Given the description of an element on the screen output the (x, y) to click on. 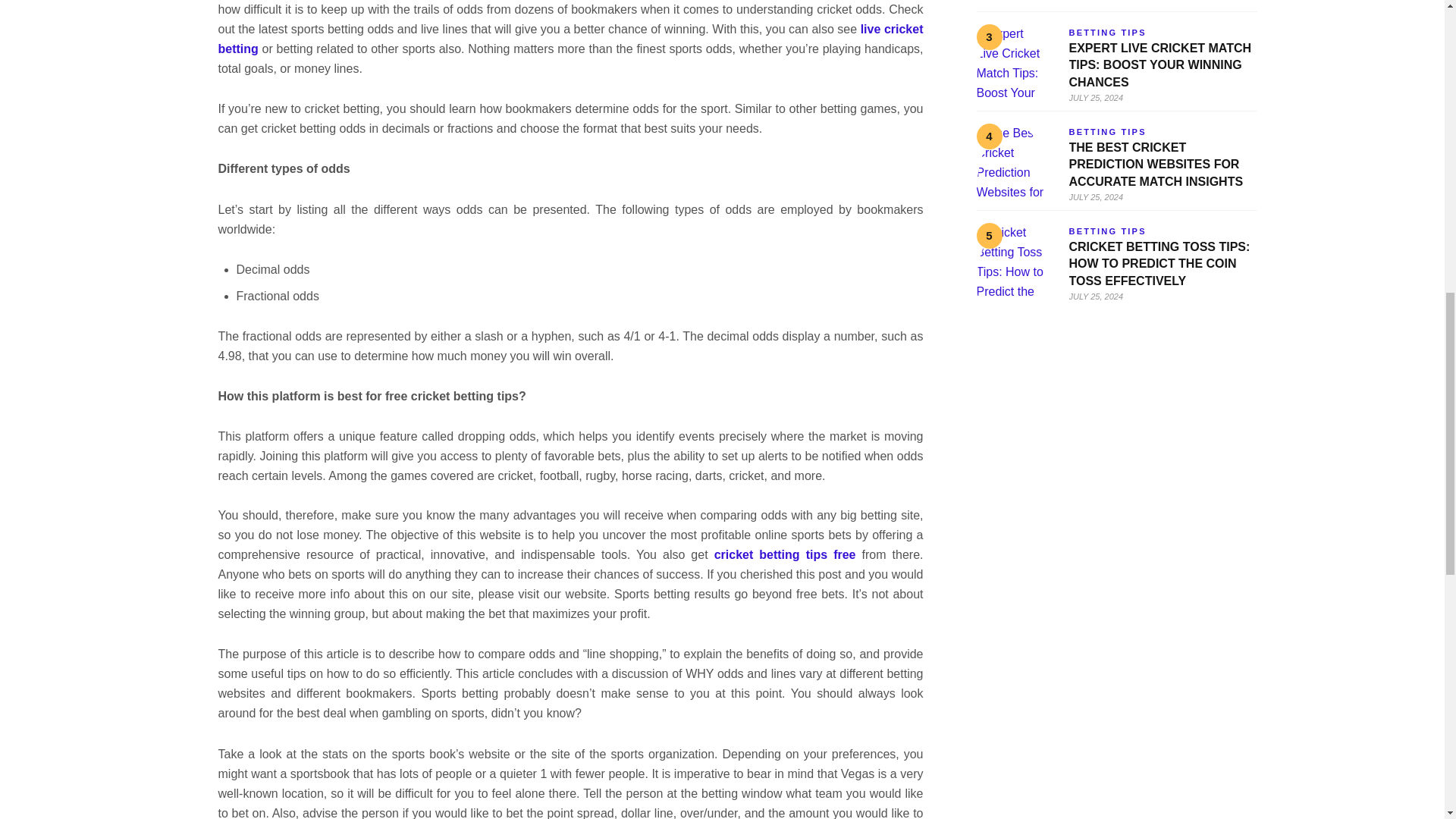
live cricket betting (570, 38)
View all posts in Betting Tips (1107, 131)
View all posts in Betting Tips (1107, 31)
View all posts in Betting Tips (1107, 230)
cricket betting tips free (785, 554)
